Given the description of an element on the screen output the (x, y) to click on. 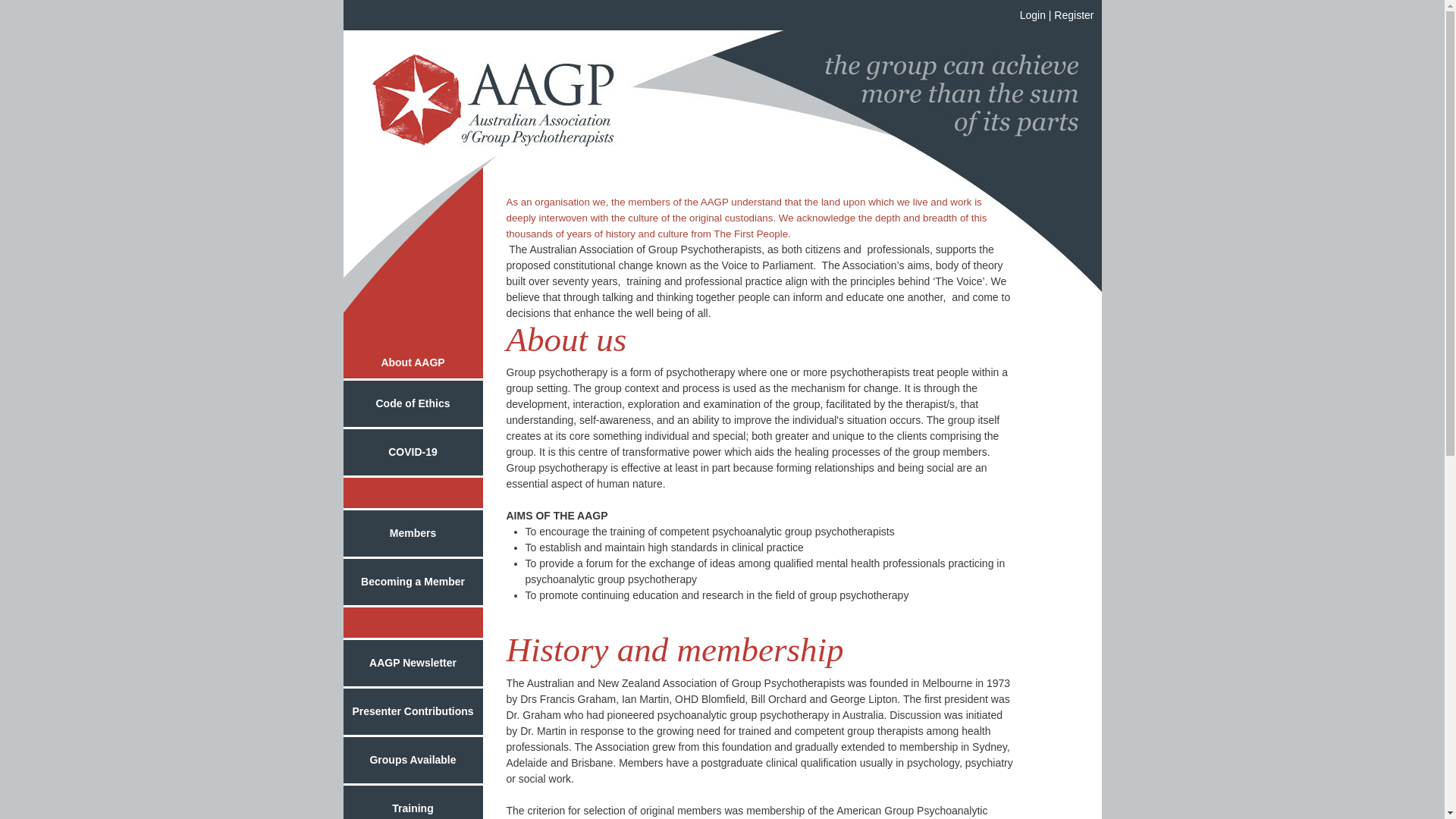
Code of Ethics Element type: text (412, 404)
Login Element type: text (1032, 15)
Becoming a Member Element type: text (412, 582)
AAGP Newsletter Element type: text (412, 664)
Register Element type: text (1073, 15)
Presenter Contributions Element type: text (412, 712)
Groups Available Element type: text (412, 761)
Members Element type: text (412, 534)
About AAGP Element type: text (412, 363)
COVID-19 Element type: text (412, 453)
